Given the description of an element on the screen output the (x, y) to click on. 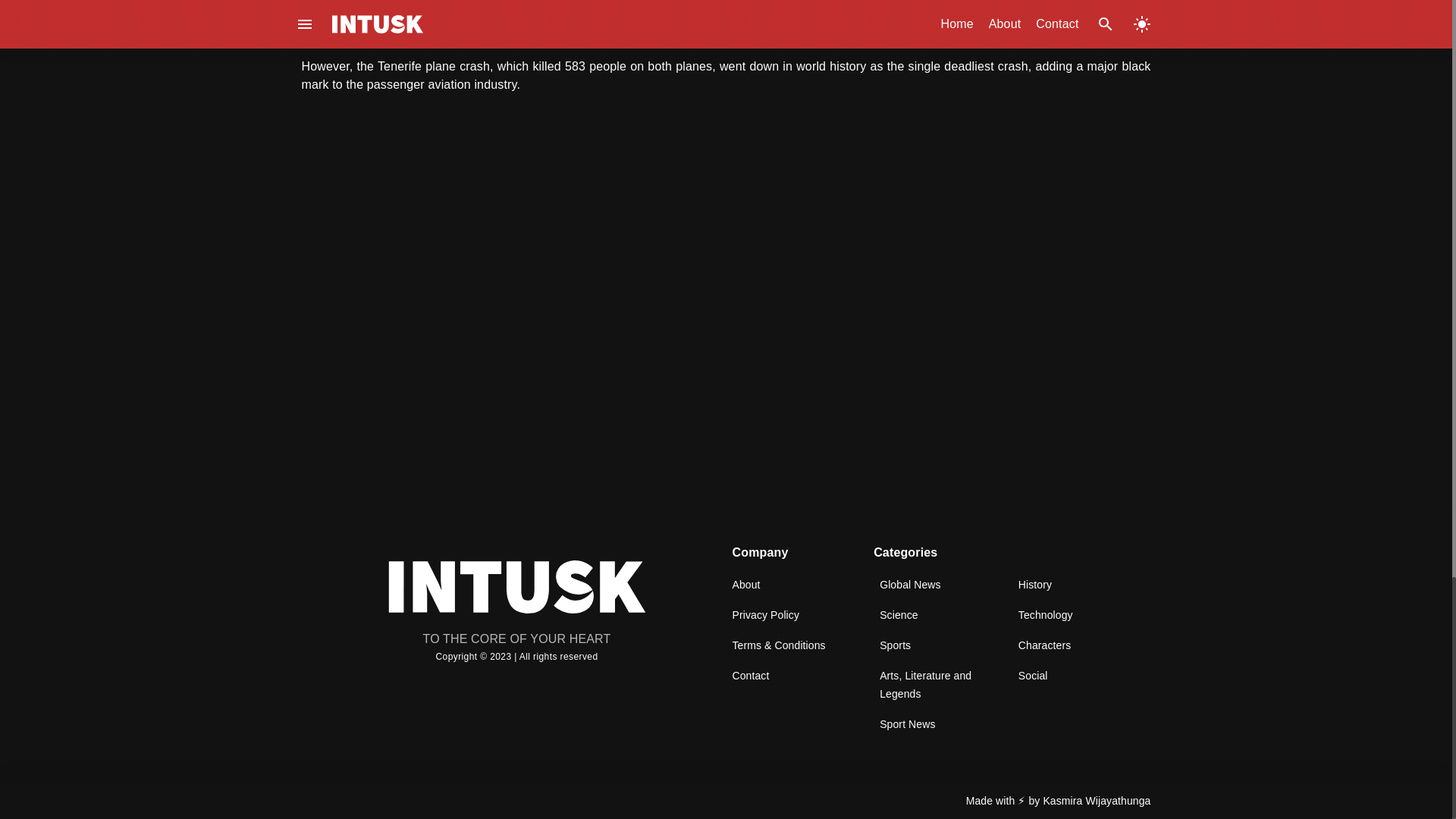
History (1034, 584)
Contact (751, 675)
Global News (909, 584)
Arts, Literature and Legends (925, 684)
Technology (1045, 614)
Social (1032, 675)
About (746, 584)
Sports (895, 644)
Characters (1043, 644)
Science (898, 614)
